Given the description of an element on the screen output the (x, y) to click on. 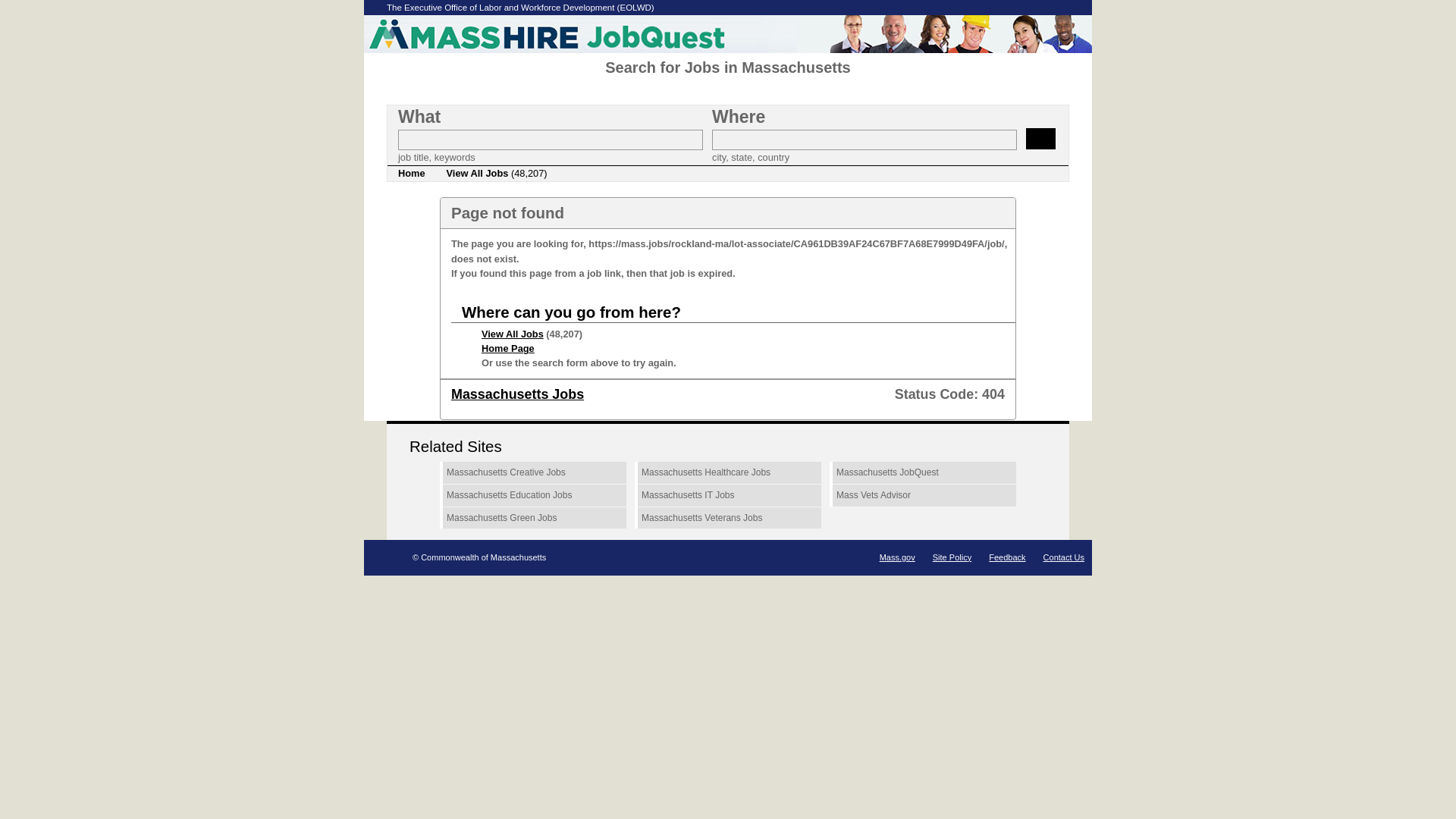
search (1040, 138)
View All Jobs (512, 333)
Mass.gov (897, 556)
Massachusetts Education Jobs (532, 495)
Massachusetts Creative Jobs (532, 472)
Feedback (1006, 556)
Mass.gov (897, 556)
Feedback (1006, 556)
Site Policy (952, 556)
Home (411, 173)
Search Location (863, 139)
Massachusetts Veterans Jobs (727, 517)
Submit Search (1040, 138)
Home Page (507, 348)
